Given the description of an element on the screen output the (x, y) to click on. 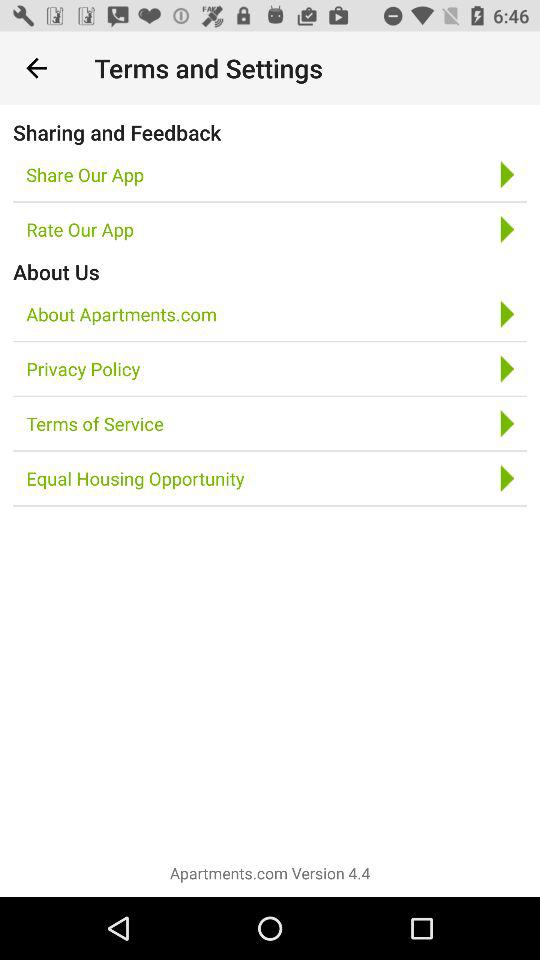
tap the item above about apartments.com icon (56, 271)
